Given the description of an element on the screen output the (x, y) to click on. 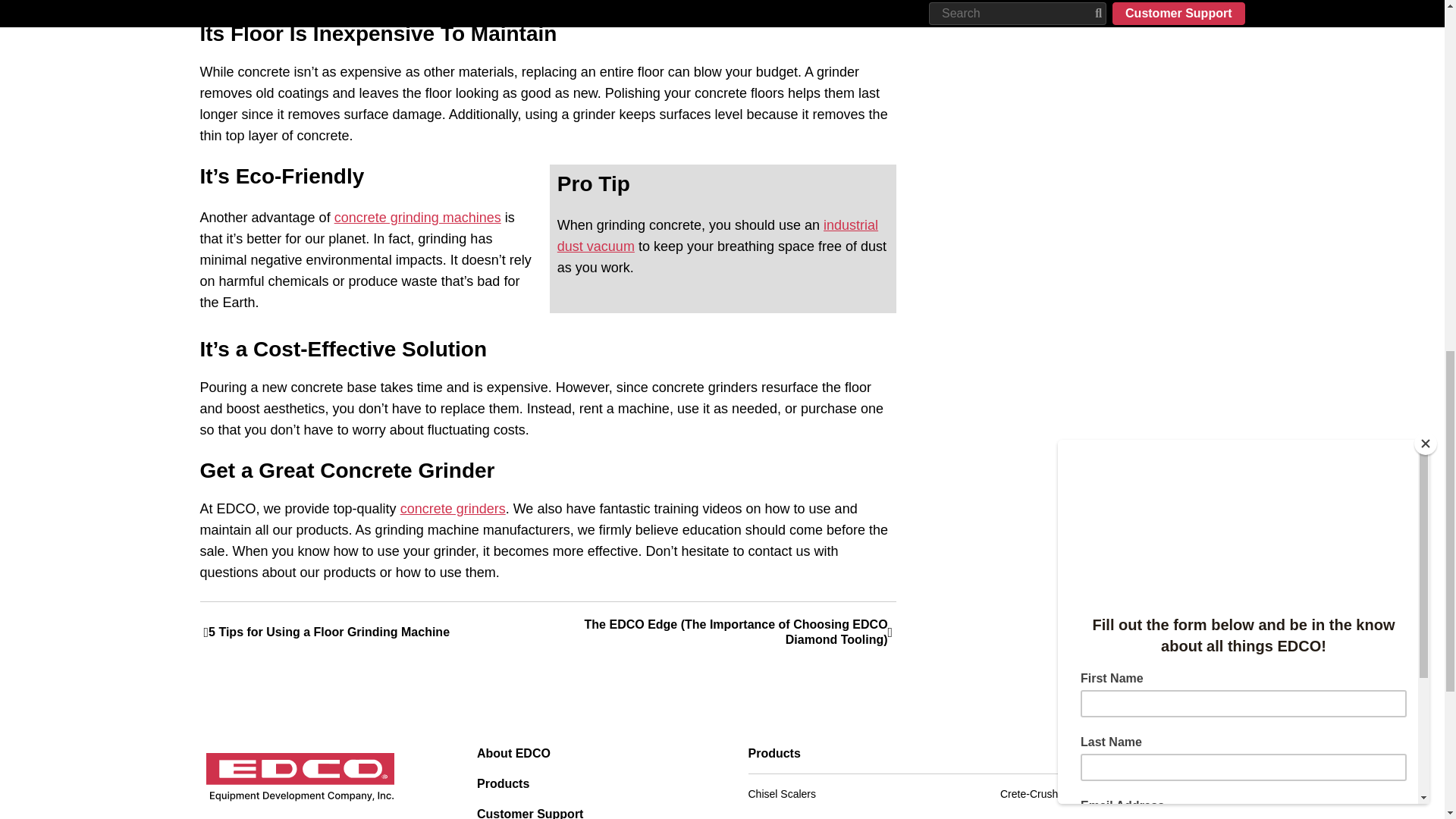
industrial dust vacuum (717, 235)
Customer Support (587, 812)
concrete grinding machines (417, 217)
About EDCO (587, 753)
concrete grinders (452, 508)
5 Tips for Using a Floor Grinding Machine (376, 631)
Products (587, 783)
